Given the description of an element on the screen output the (x, y) to click on. 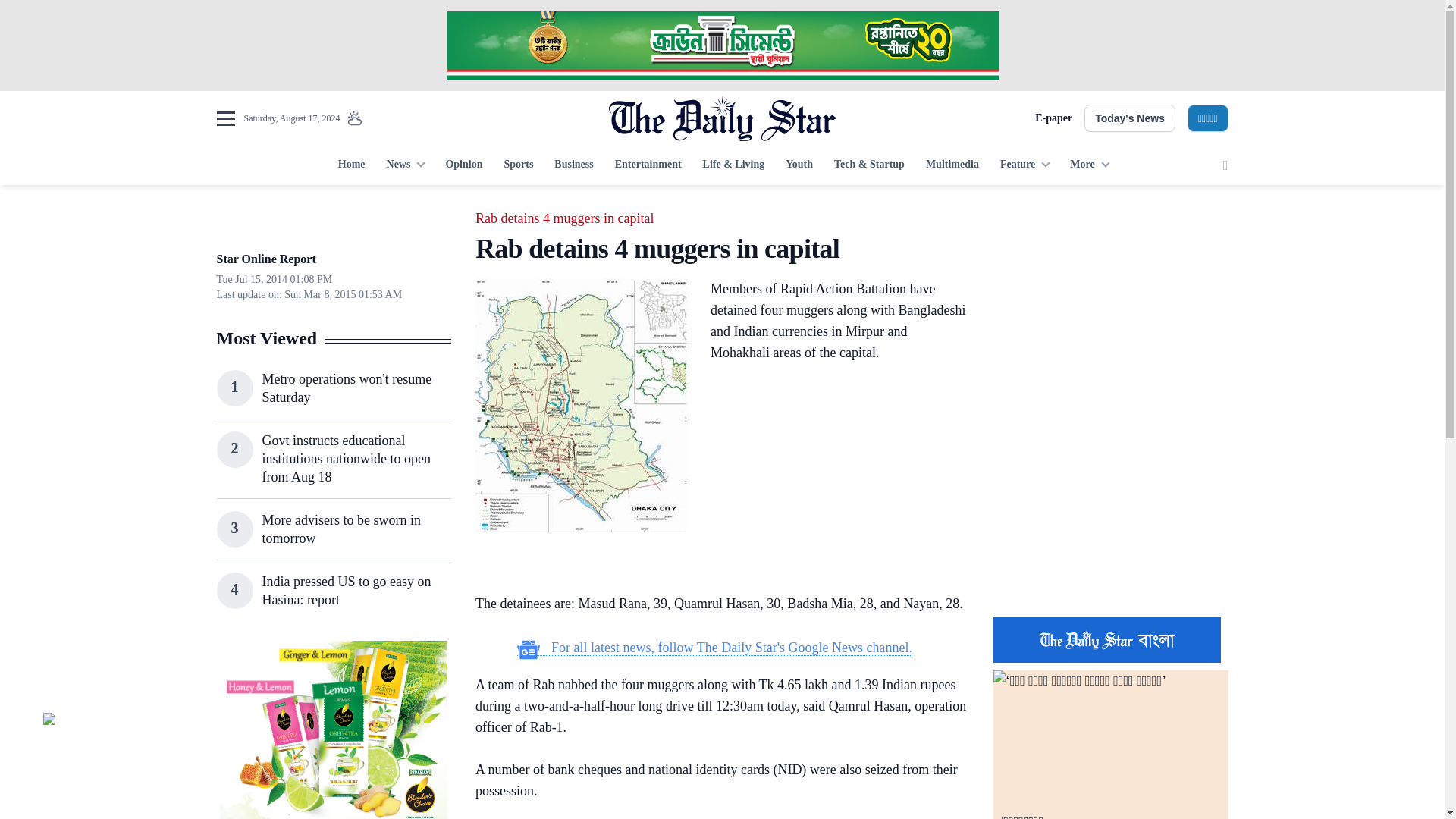
E-paper (1053, 117)
Today's News (1129, 117)
3rd party ad content (1110, 302)
Youth (799, 165)
Opinion (463, 165)
Home (351, 165)
3rd party ad content (332, 729)
Sports (518, 165)
3rd party ad content (1110, 506)
